Given the description of an element on the screen output the (x, y) to click on. 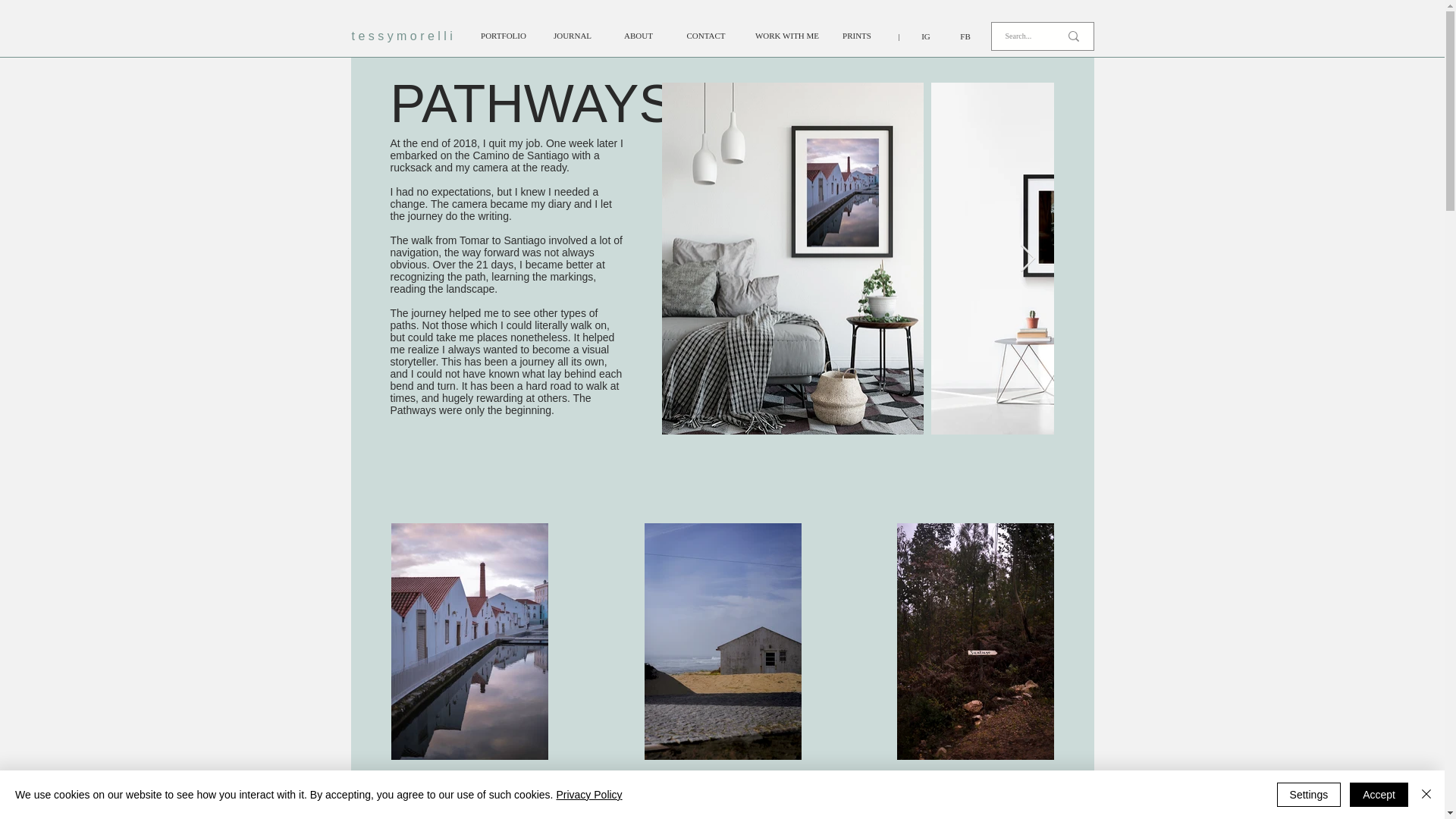
Privacy Policy (588, 794)
ABOUT (638, 36)
Settings (1308, 794)
PRINTS (856, 36)
t e s s y m o r e l l i (406, 36)
JOURNAL (572, 36)
CONTACT (705, 36)
WORK WITH ME (786, 36)
PORTFOLIO (502, 36)
Accept (1378, 794)
